Given the description of an element on the screen output the (x, y) to click on. 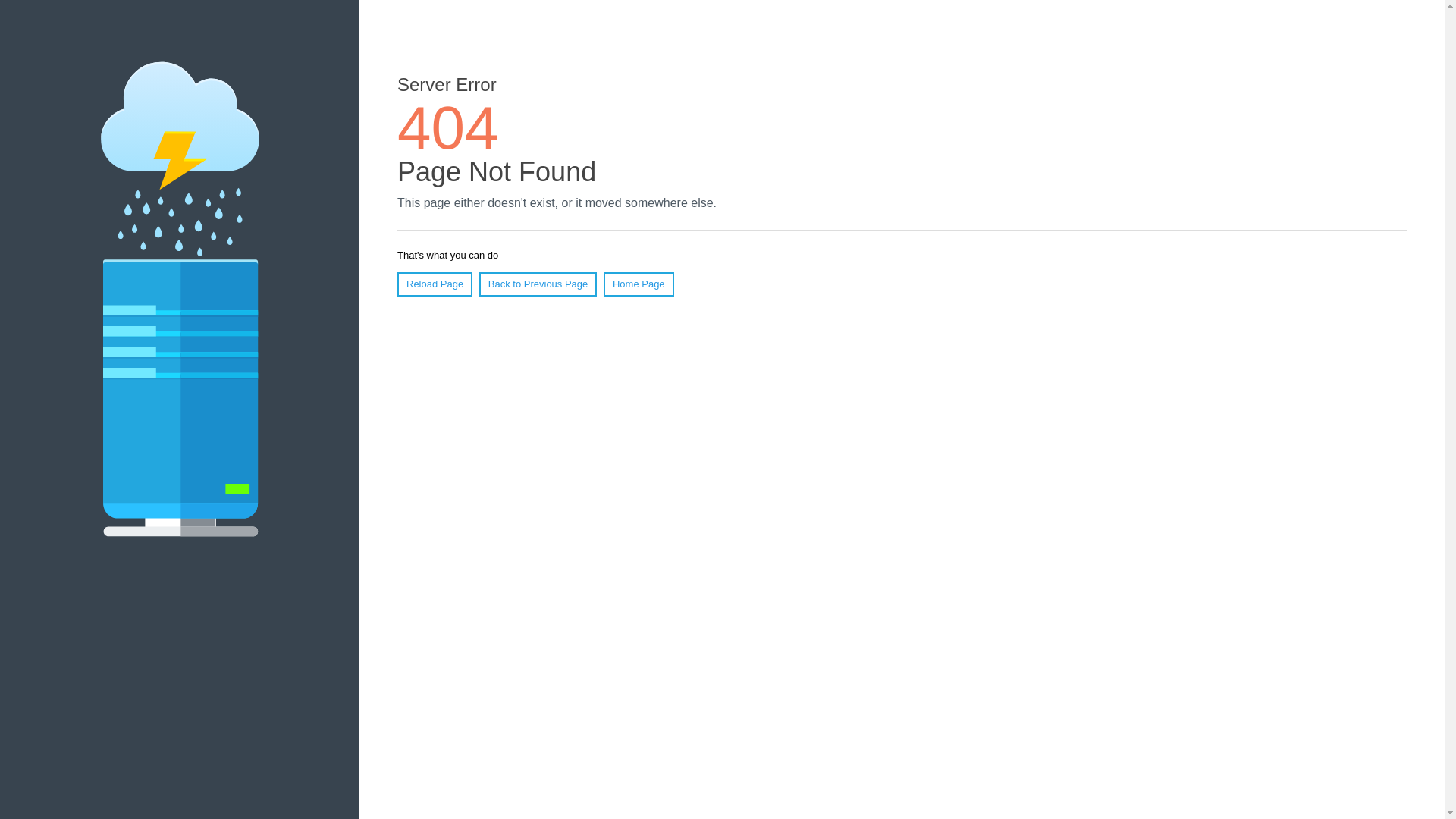
Back to Previous Page Element type: text (538, 284)
Reload Page Element type: text (434, 284)
Home Page Element type: text (638, 284)
